Given the description of an element on the screen output the (x, y) to click on. 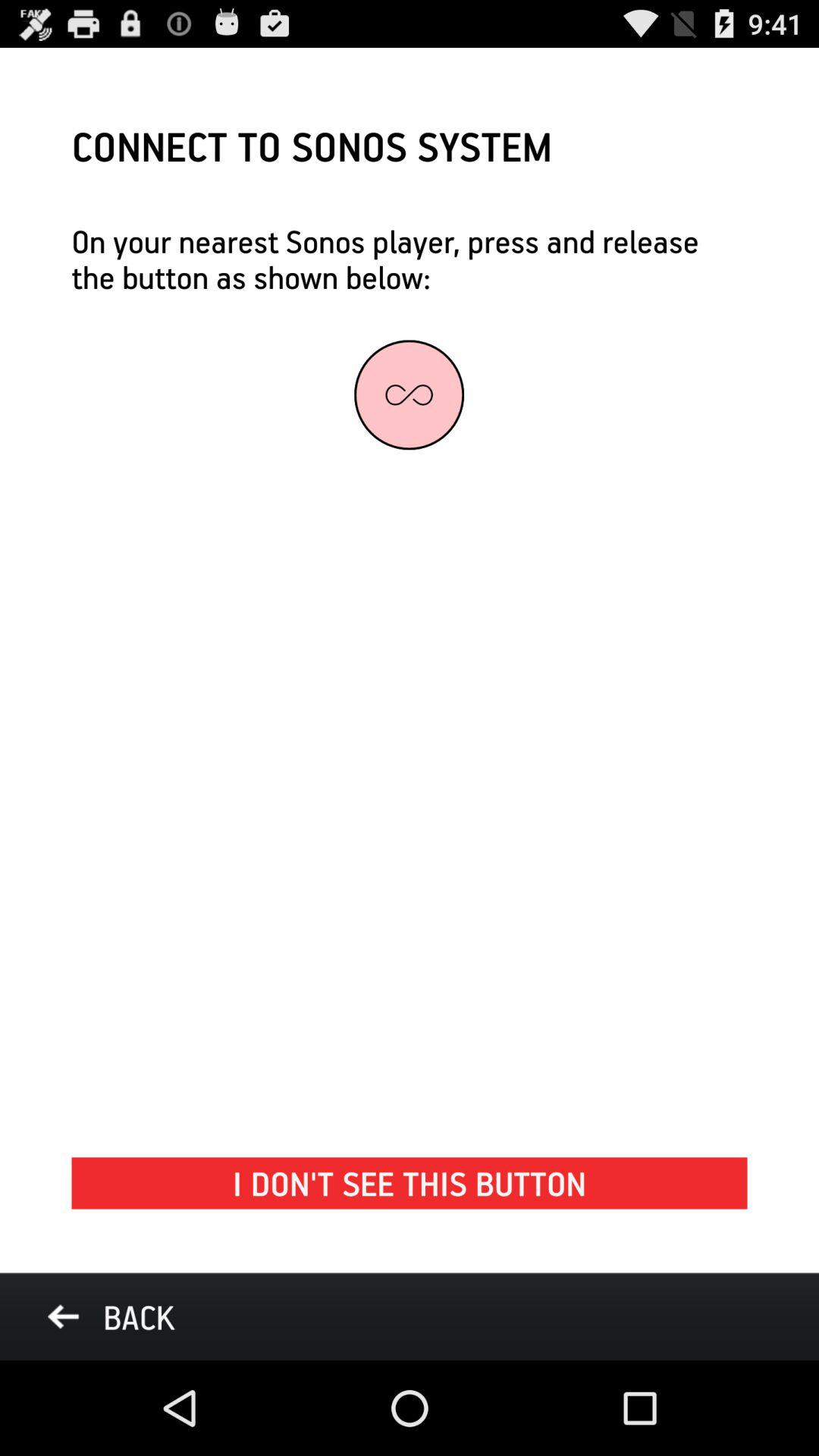
open the i don t at the bottom (409, 1183)
